Given the description of an element on the screen output the (x, y) to click on. 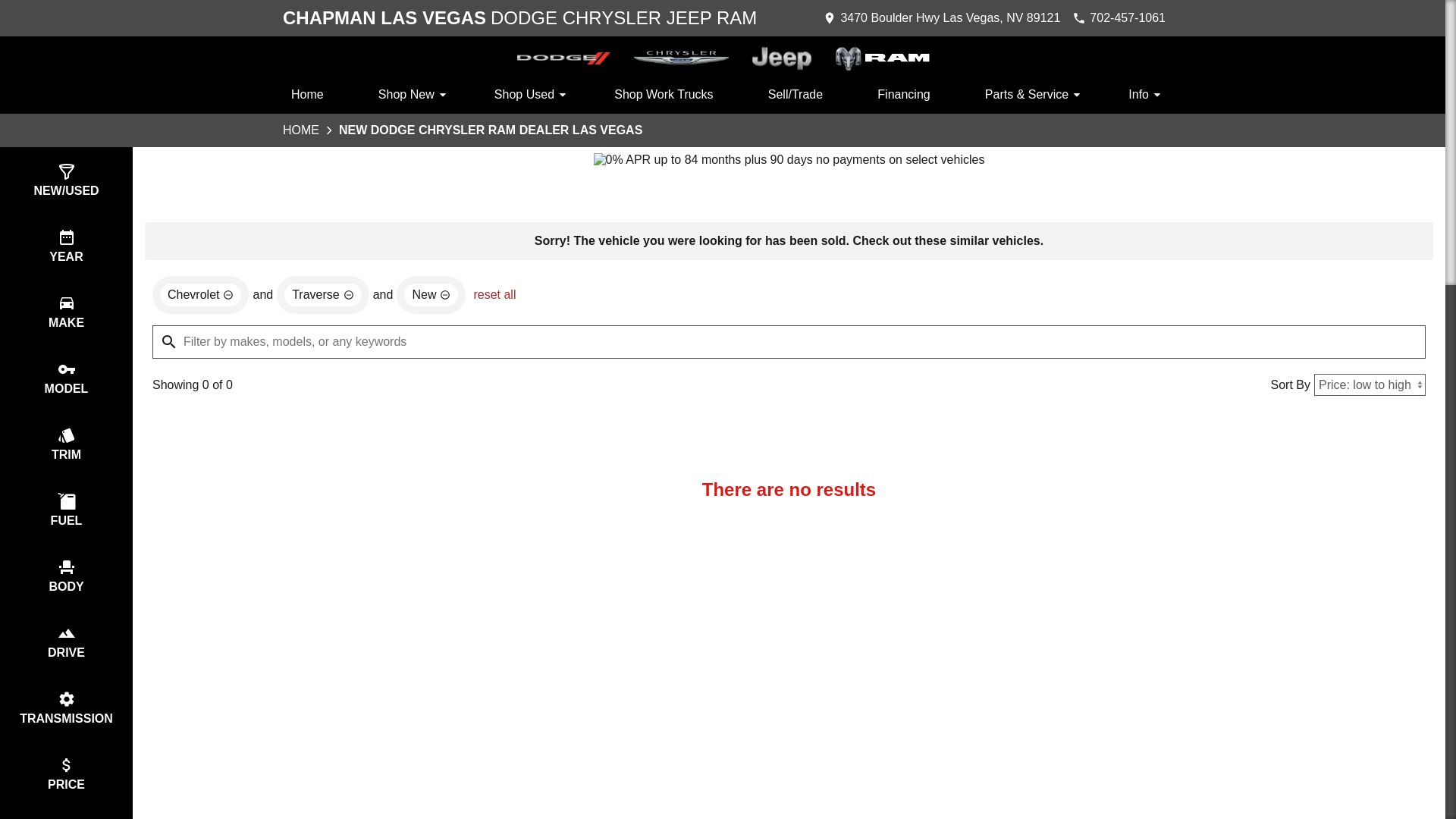
702-457-1061 (1118, 18)
Shop New (408, 96)
3470 Boulder Hwy Las Vegas, NV 89121 (940, 18)
Home (517, 18)
Shop Used (306, 96)
